Given the description of an element on the screen output the (x, y) to click on. 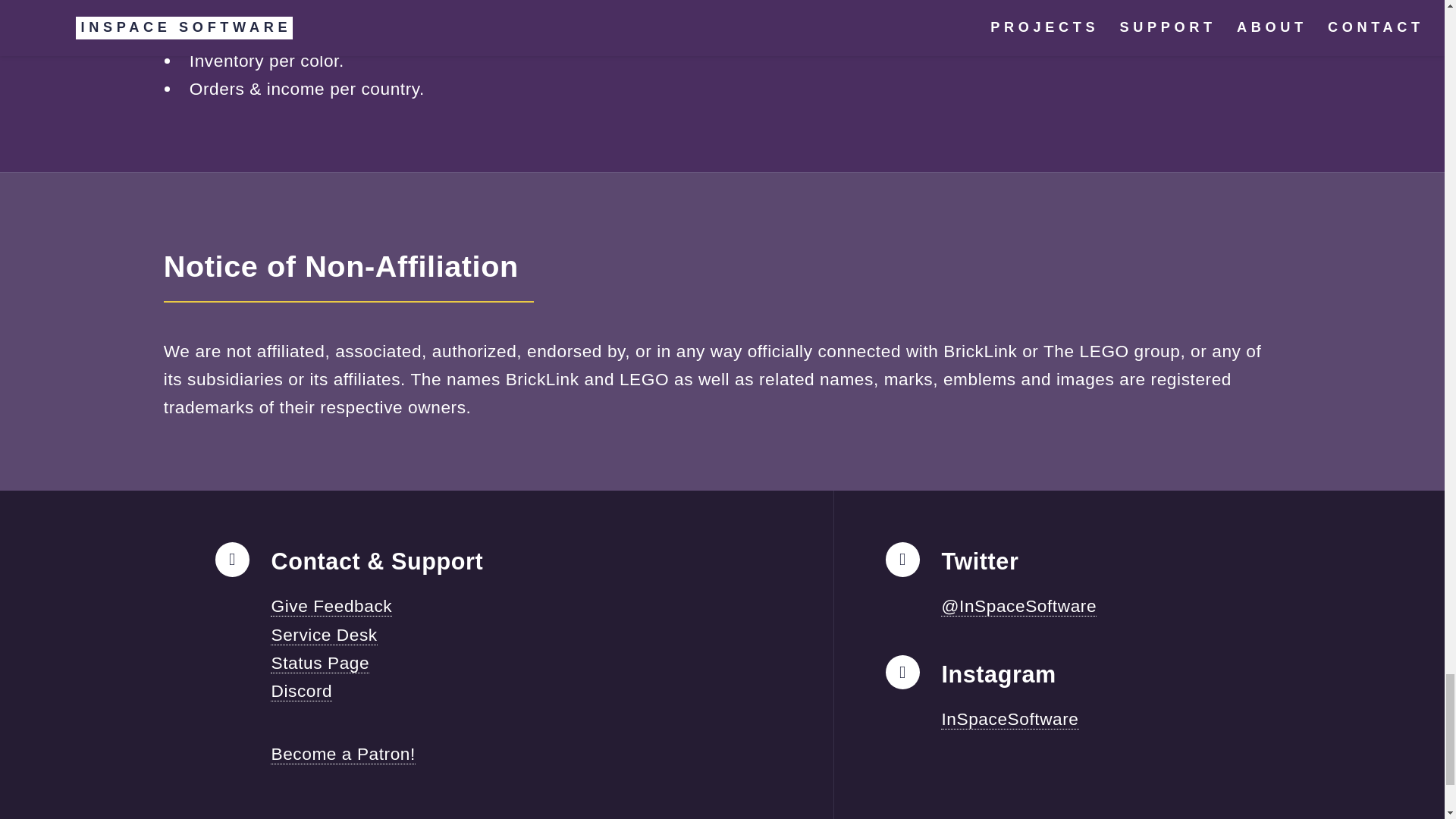
Service Desk (323, 634)
Discord (300, 690)
InSpaceSoftware (1009, 719)
Become a Patron! (342, 753)
Status Page (319, 662)
Give Feedback (330, 606)
